Given the description of an element on the screen output the (x, y) to click on. 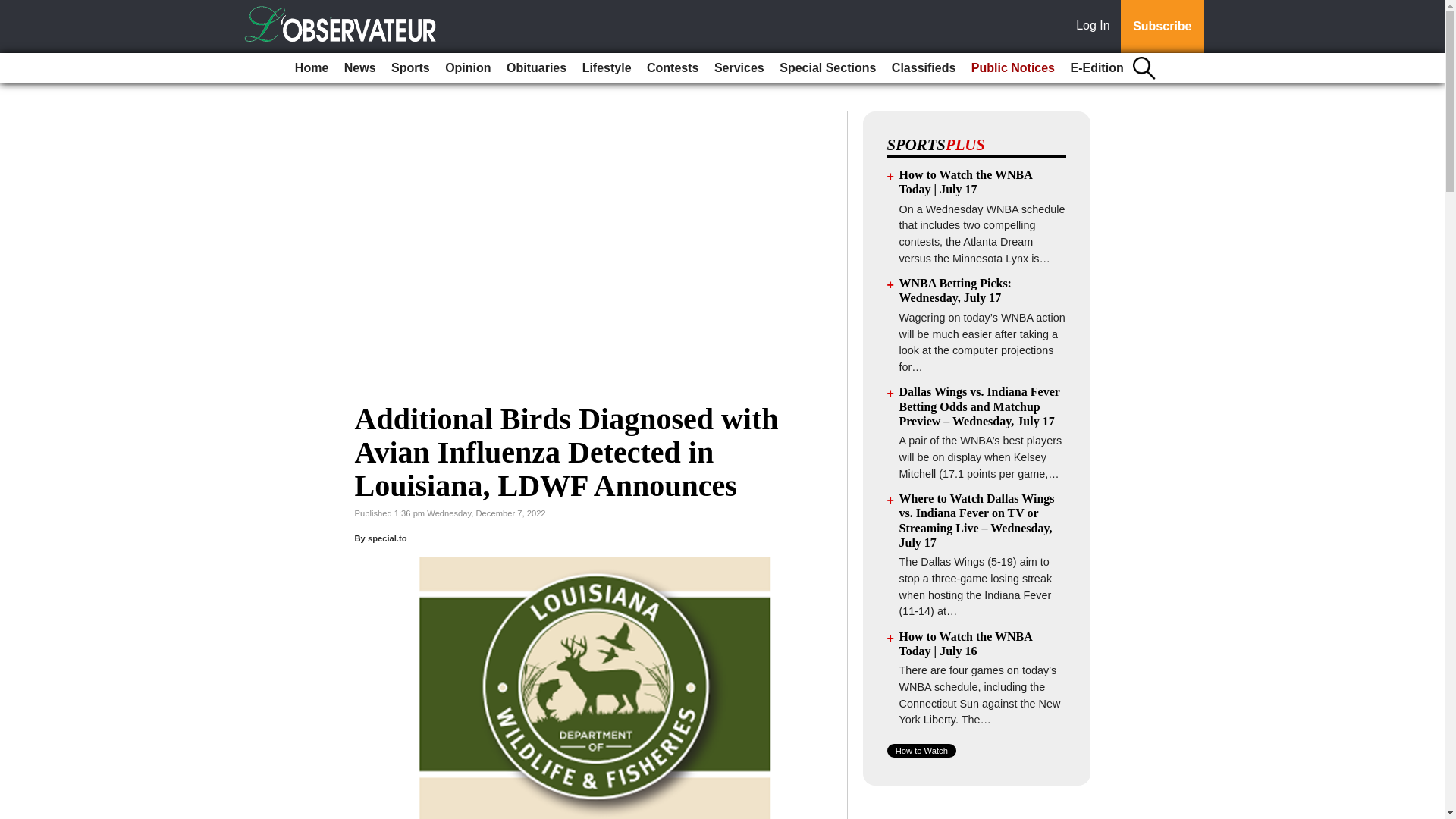
Special Sections (827, 68)
Go (13, 9)
Subscribe (1162, 26)
Opinion (467, 68)
Log In (1095, 26)
Classifieds (922, 68)
E-Edition (1096, 68)
News (359, 68)
Contests (672, 68)
Public Notices (1013, 68)
Lifestyle (606, 68)
Obituaries (536, 68)
WNBA Betting Picks: Wednesday, July 17 (955, 289)
Services (738, 68)
Home (311, 68)
